Given the description of an element on the screen output the (x, y) to click on. 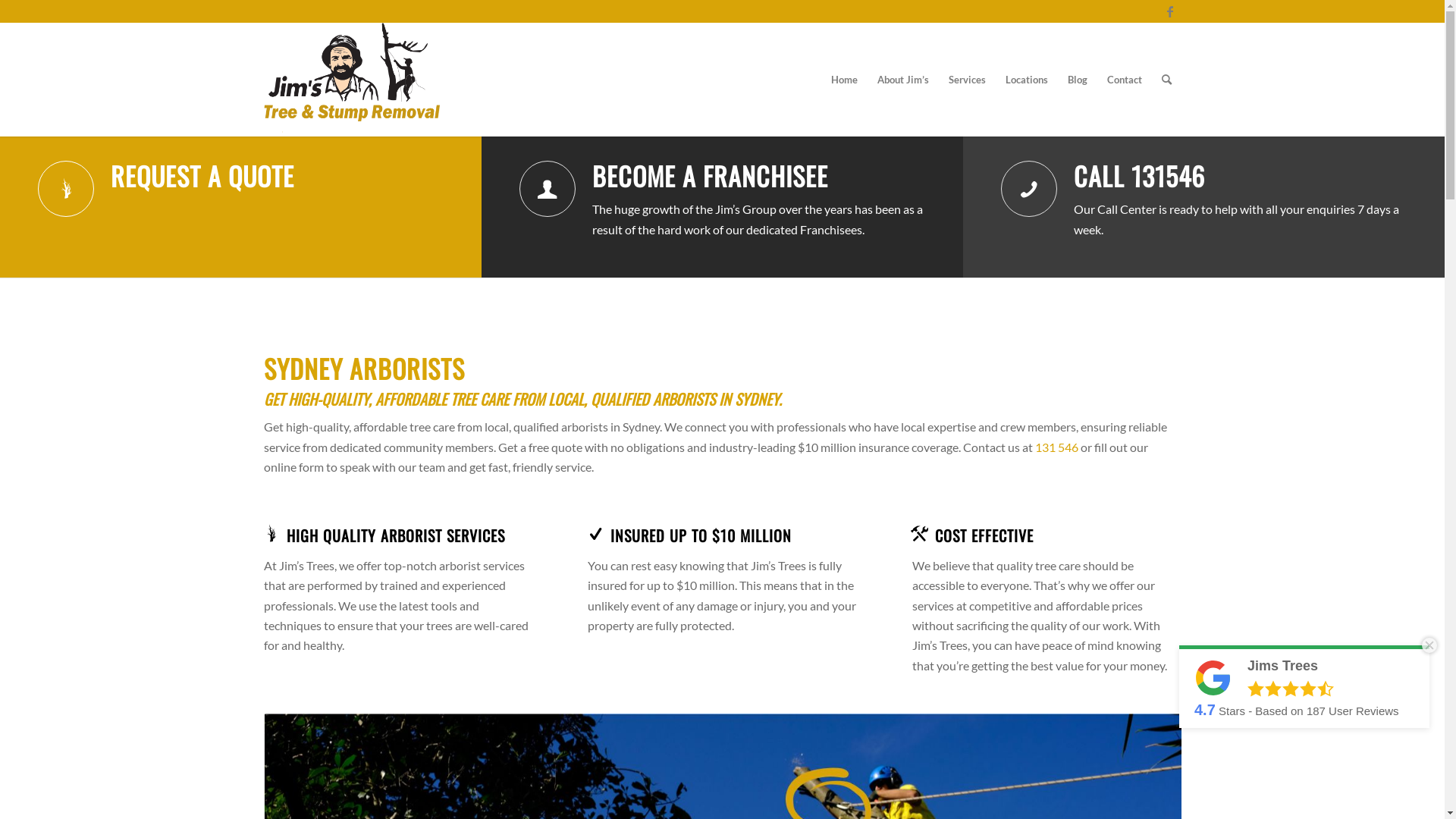
CALL 131546 Element type: text (1138, 175)
Become a Franchisee Element type: hover (547, 188)
Facebook Element type: hover (1169, 11)
Locations Element type: text (1025, 79)
Services Element type: text (966, 79)
Home Element type: text (843, 79)
Blog Element type: text (1076, 79)
131 546 Element type: text (1055, 446)
trees Element type: hover (351, 79)
Contact Element type: text (1123, 79)
REQUEST A QUOTE Element type: text (202, 175)
Call 131546 Element type: hover (1029, 188)
BECOME A FRANCHISEE Element type: text (710, 175)
Request a Quote Element type: hover (65, 188)
